Given the description of an element on the screen output the (x, y) to click on. 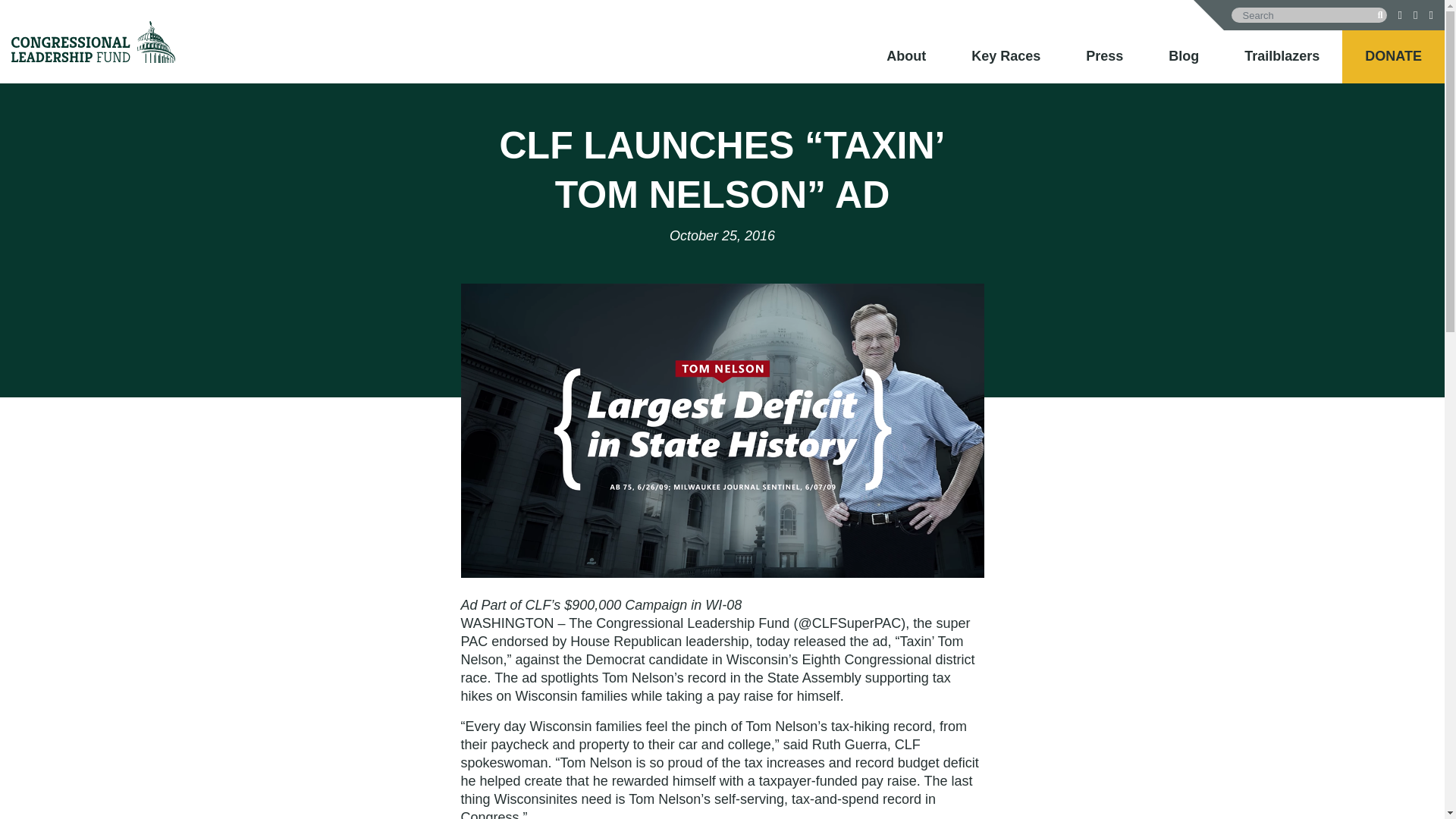
Facebook (1399, 14)
Trailblazers (1281, 56)
DONATE (1393, 56)
YouTube (1430, 14)
Twitter (1414, 14)
Key Races (1006, 56)
Blog (1183, 56)
Press (1104, 56)
About (906, 56)
